Given the description of an element on the screen output the (x, y) to click on. 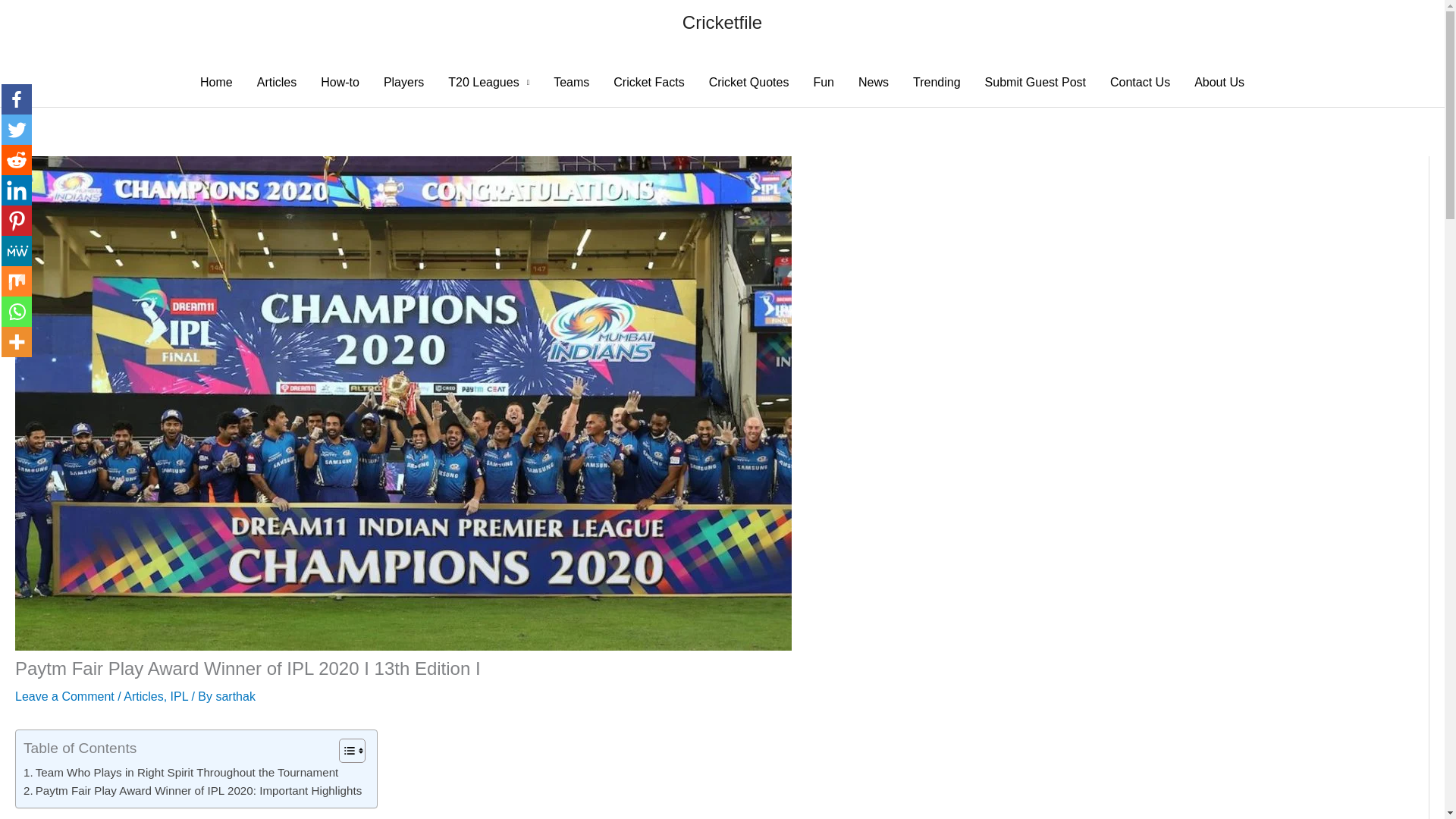
T20 Leagues (488, 82)
Teams (571, 82)
Team Who Plays in Right Spirit Throughout the Tournament (180, 772)
Cricketfile (721, 22)
Trending (936, 82)
News (873, 82)
Team Who Plays in Right Spirit Throughout the Tournament (180, 772)
Articles (143, 696)
Cricket Facts (648, 82)
